Given the description of an element on the screen output the (x, y) to click on. 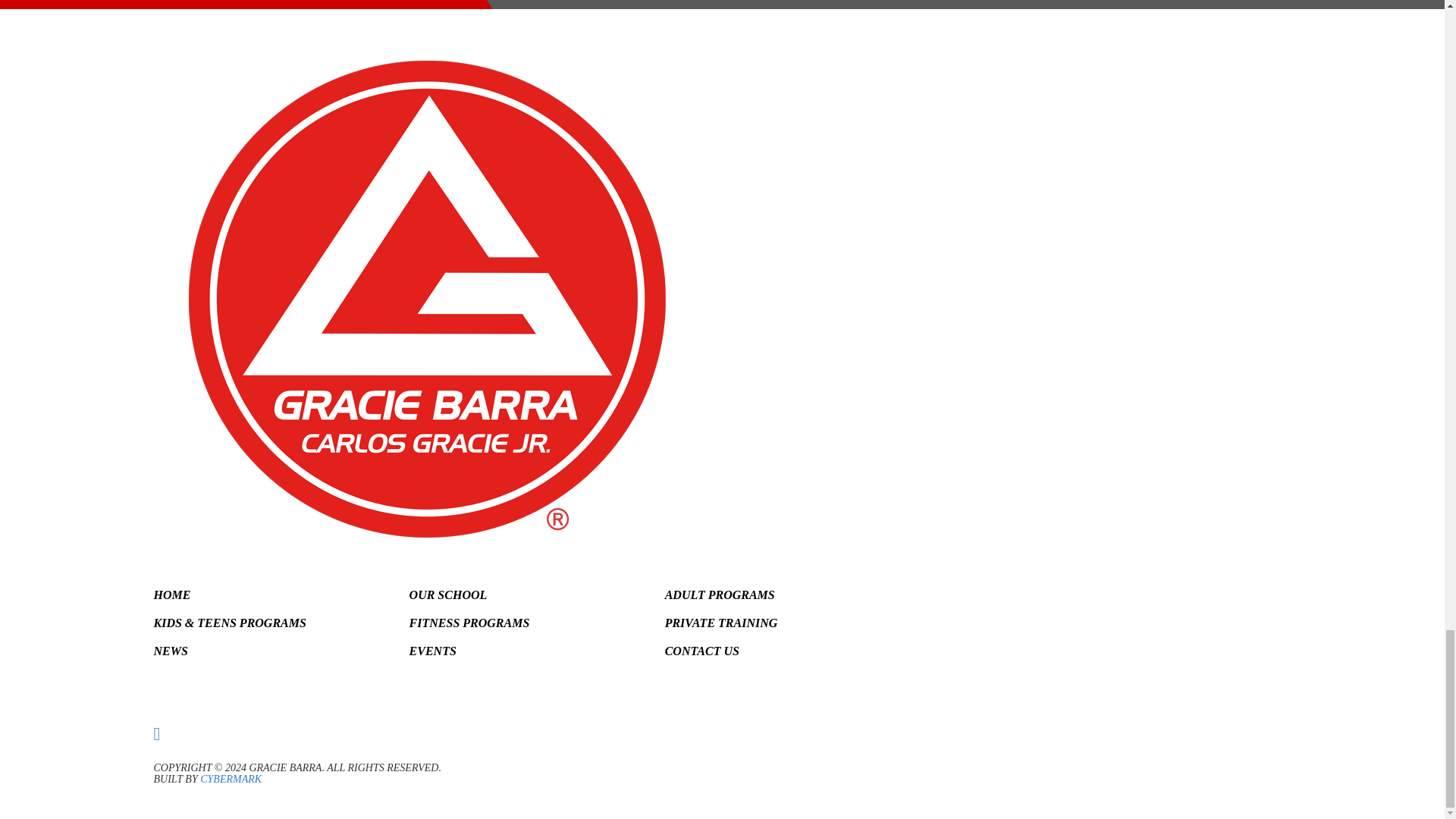
ADULT PROGRAMS (719, 594)
PRIVATE TRAINING (721, 622)
FITNESS PROGRAMS (469, 622)
OUR SCHOOL (448, 594)
HOME (171, 594)
